Given the description of an element on the screen output the (x, y) to click on. 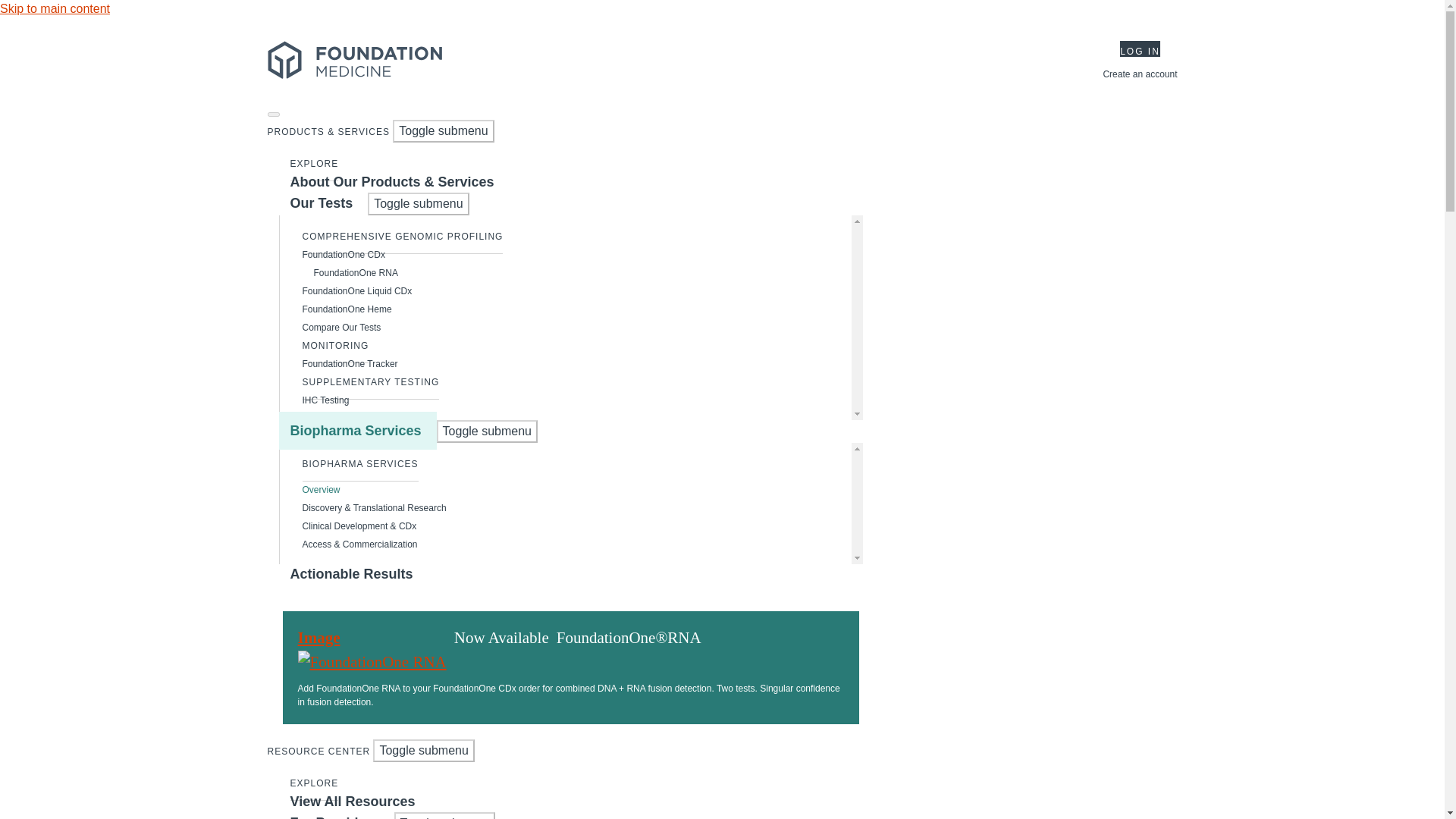
Actionable Results (352, 573)
Create an account (1139, 73)
Toggle submenu (423, 750)
Image (371, 650)
IHC Testing (326, 400)
View All Resources (352, 800)
Toggle submenu (443, 130)
Toggle submenu (486, 431)
Toggle submenu (418, 203)
FoundationOne Heme (347, 309)
FoundationOne RNA (350, 272)
Biopharma Services (357, 430)
LOG IN (1139, 48)
Compare Our Tests (342, 327)
FoundationOne Tracker (350, 363)
